Given the description of an element on the screen output the (x, y) to click on. 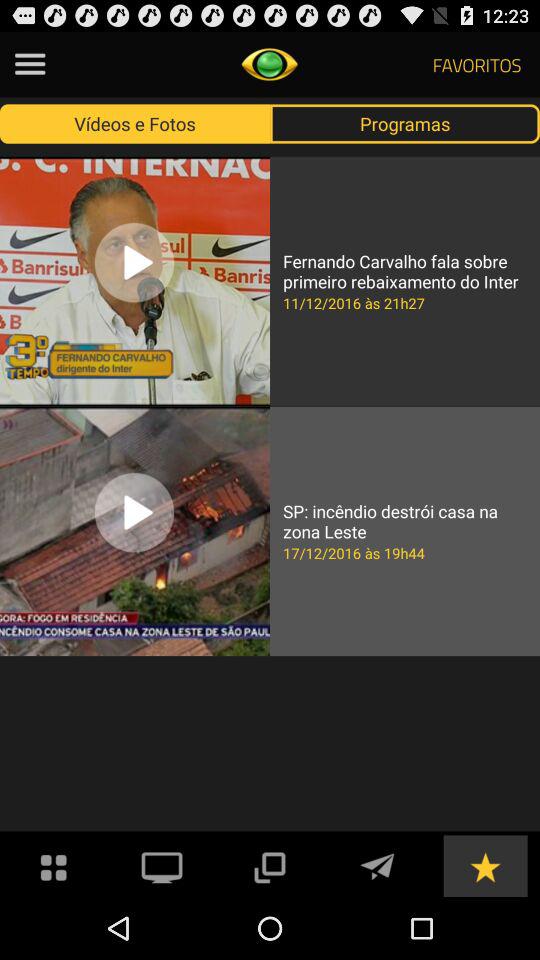
view more pages (269, 865)
